Given the description of an element on the screen output the (x, y) to click on. 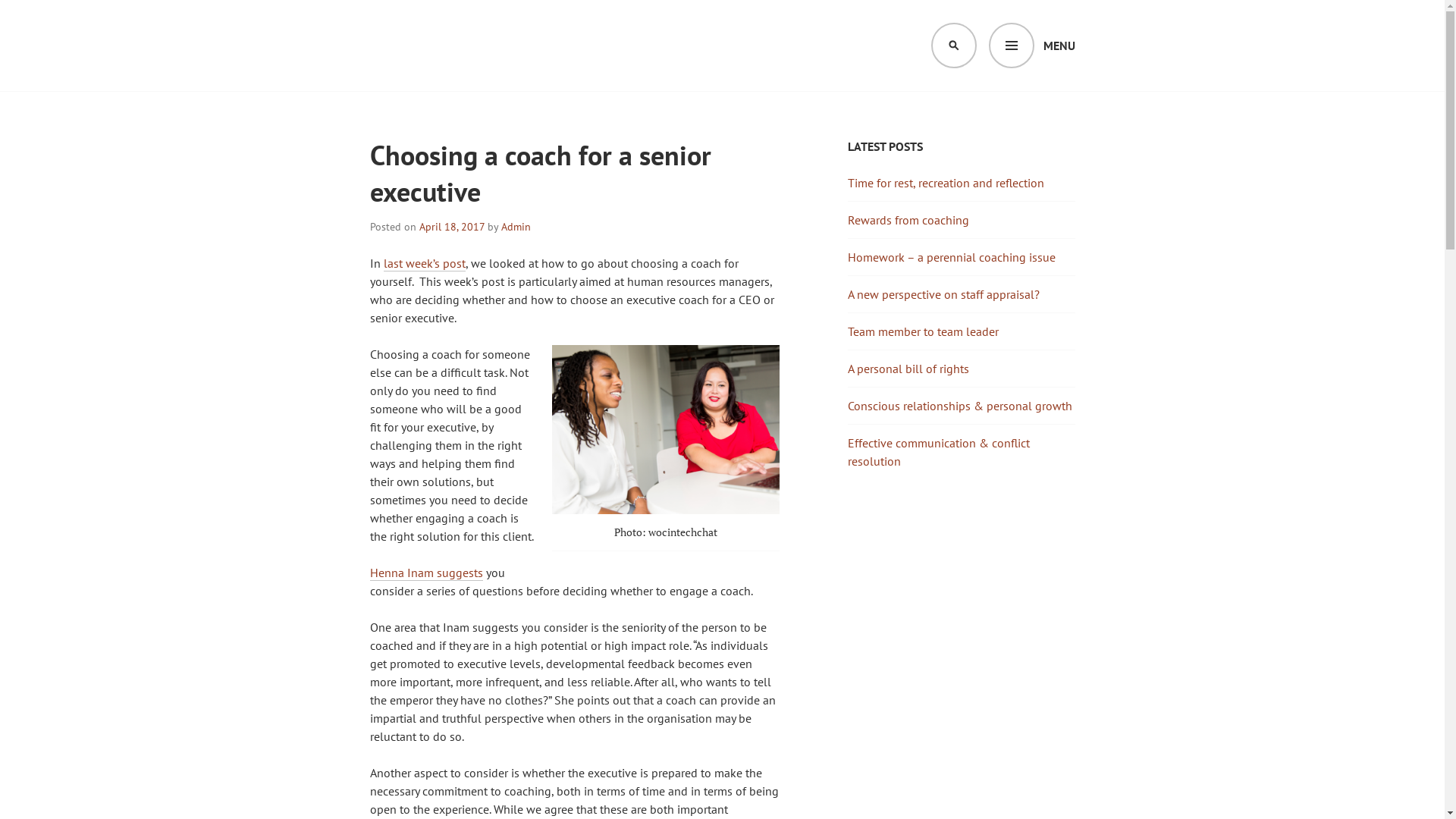
EXECUTIVE COACH EXCHANGE Element type: text (547, 93)
Conscious relationships & personal growth Element type: text (959, 405)
Effective communication & conflict resolution Element type: text (938, 451)
Rewards from coaching Element type: text (908, 219)
Admin Element type: text (515, 226)
A new perspective on staff appraisal? Element type: text (943, 293)
Time for rest, recreation and reflection Element type: text (945, 182)
Henna Inam suggests Element type: text (426, 572)
A personal bill of rights Element type: text (908, 368)
SEARCH Element type: text (953, 45)
Team member to team leader Element type: text (922, 330)
MENU Element type: text (1031, 45)
April 18, 2017 Element type: text (450, 226)
